Given the description of an element on the screen output the (x, y) to click on. 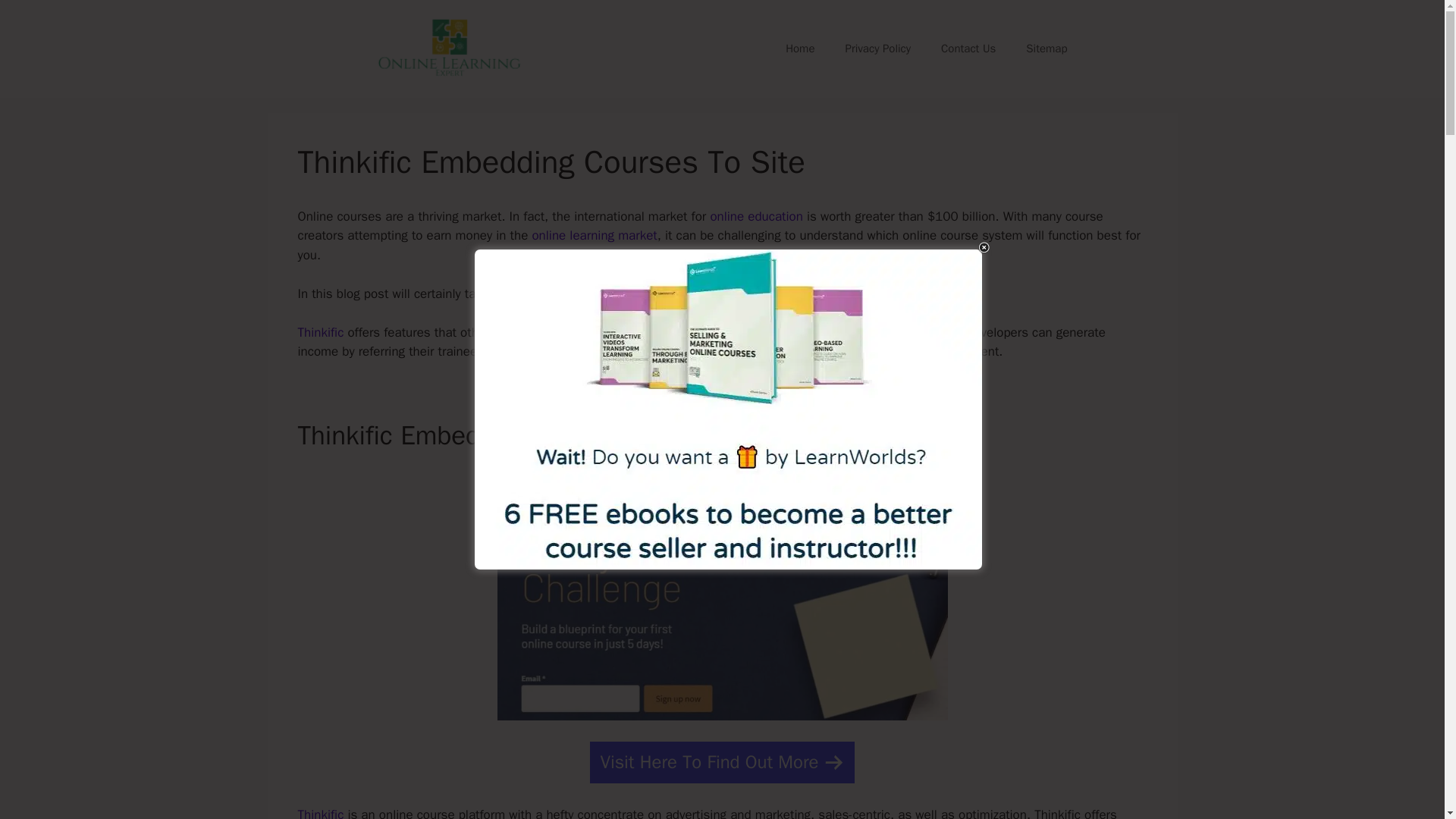
Visit Here To Find Out More (721, 762)
online education (756, 216)
Thinkific (320, 812)
online learning market (593, 235)
Thinkific (320, 332)
Sitemap (1045, 48)
Contact Us (968, 48)
Privacy Policy (877, 48)
Close (984, 247)
Home (799, 48)
